Given the description of an element on the screen output the (x, y) to click on. 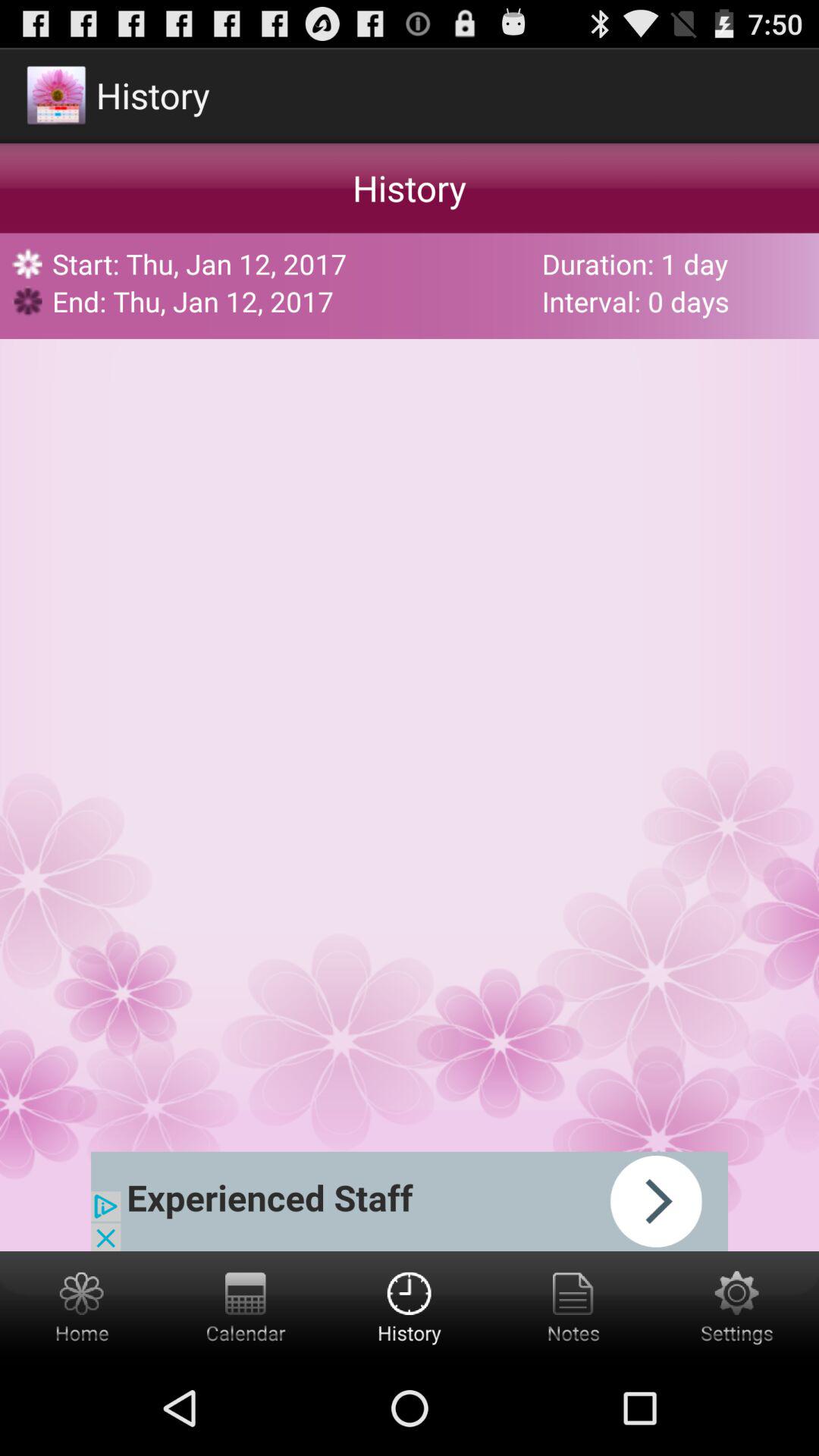
go to home (81, 1305)
